Given the description of an element on the screen output the (x, y) to click on. 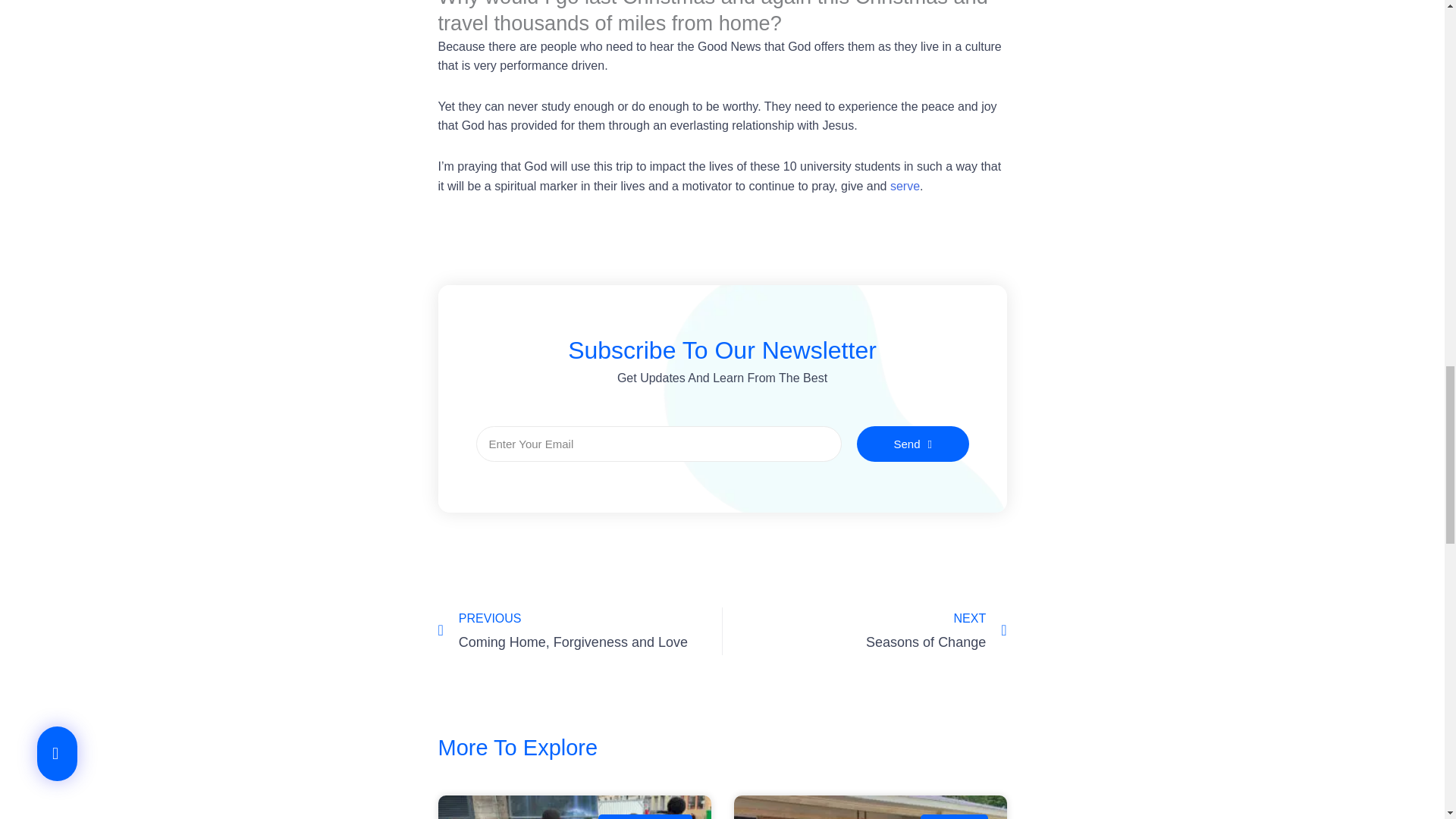
serve (580, 631)
Send (904, 185)
